Given the description of an element on the screen output the (x, y) to click on. 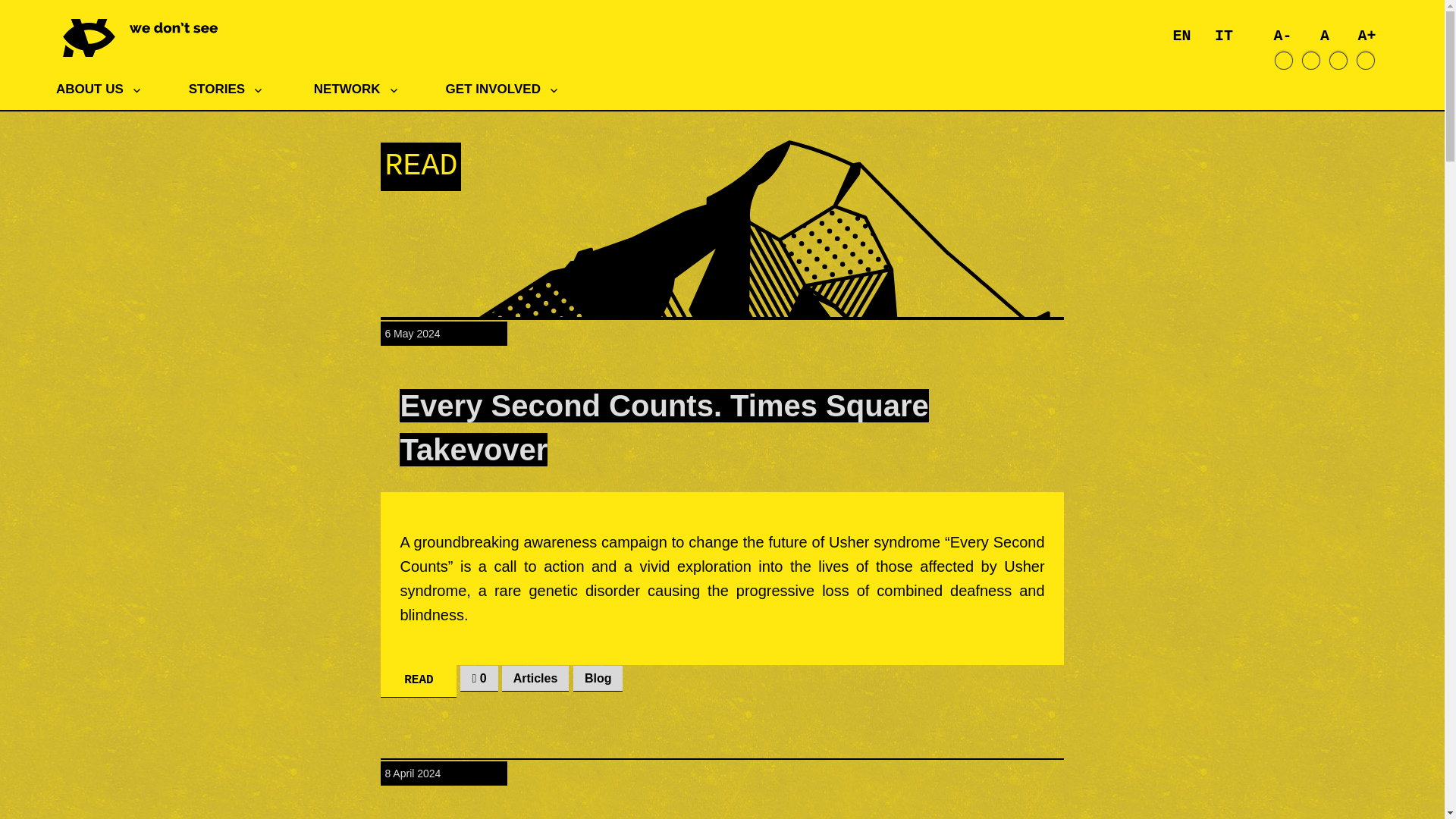
ABOUT US (103, 89)
About us (103, 89)
English (1180, 35)
A (1324, 35)
Stories (232, 89)
Italiano (1224, 35)
GET INVOLVED (508, 89)
NETWORK (361, 89)
A (1324, 35)
A- (1282, 35)
STORIES (232, 89)
IT (1224, 35)
EN (1180, 35)
